Given the description of an element on the screen output the (x, y) to click on. 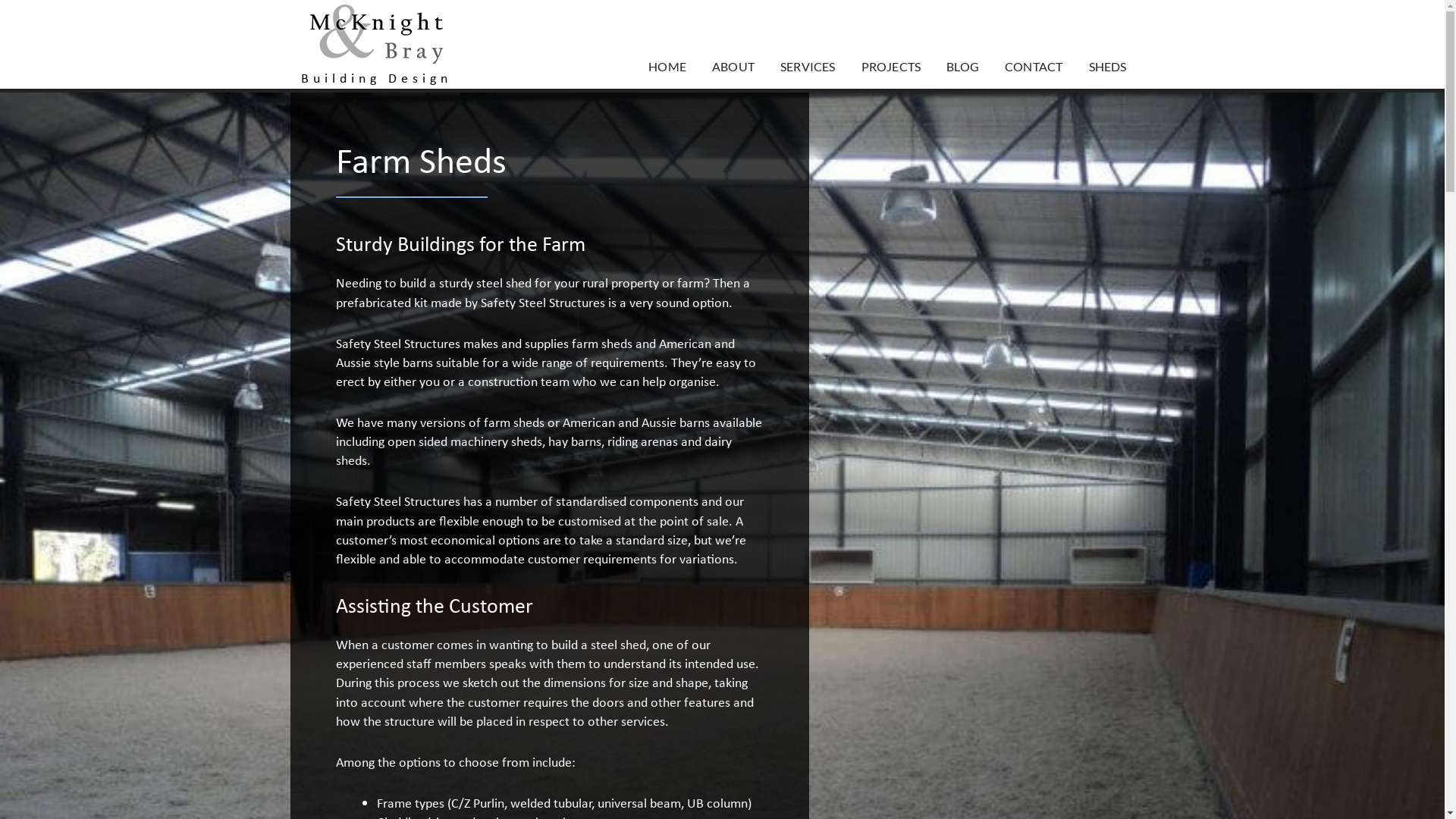
BLOG Element type: text (962, 66)
SERVICES Element type: text (807, 66)
ABOUT Element type: text (733, 66)
SHEDS Element type: text (1107, 66)
CONTACT Element type: text (1033, 66)
HOME Element type: text (667, 66)
PROJECTS Element type: text (891, 66)
